Given the description of an element on the screen output the (x, y) to click on. 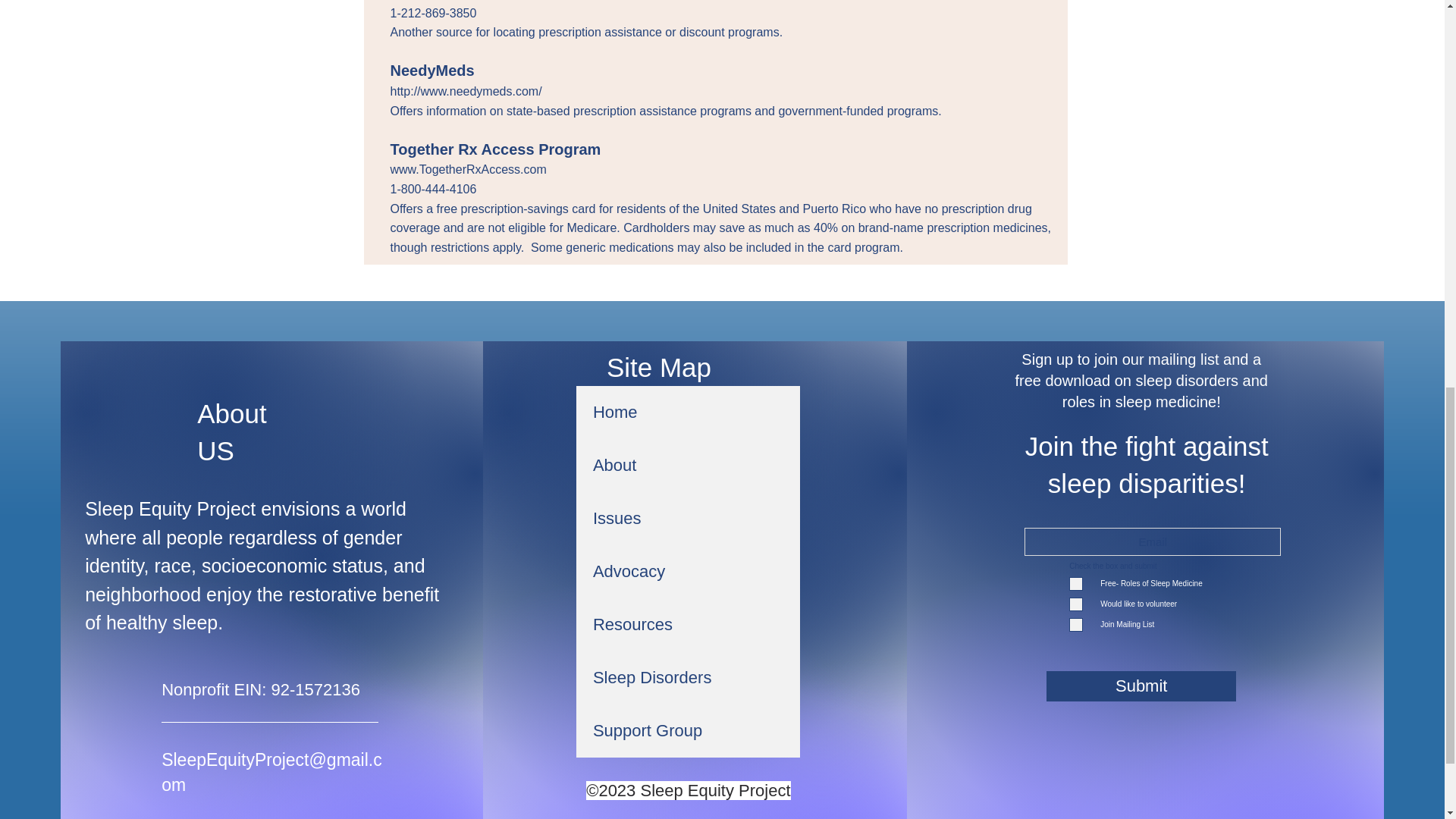
About (687, 465)
Support Group (687, 730)
Issues (687, 518)
Submit (1141, 685)
Resources (687, 624)
Sleep Disorders (687, 677)
Home (687, 411)
Advocacy (687, 571)
